Given the description of an element on the screen output the (x, y) to click on. 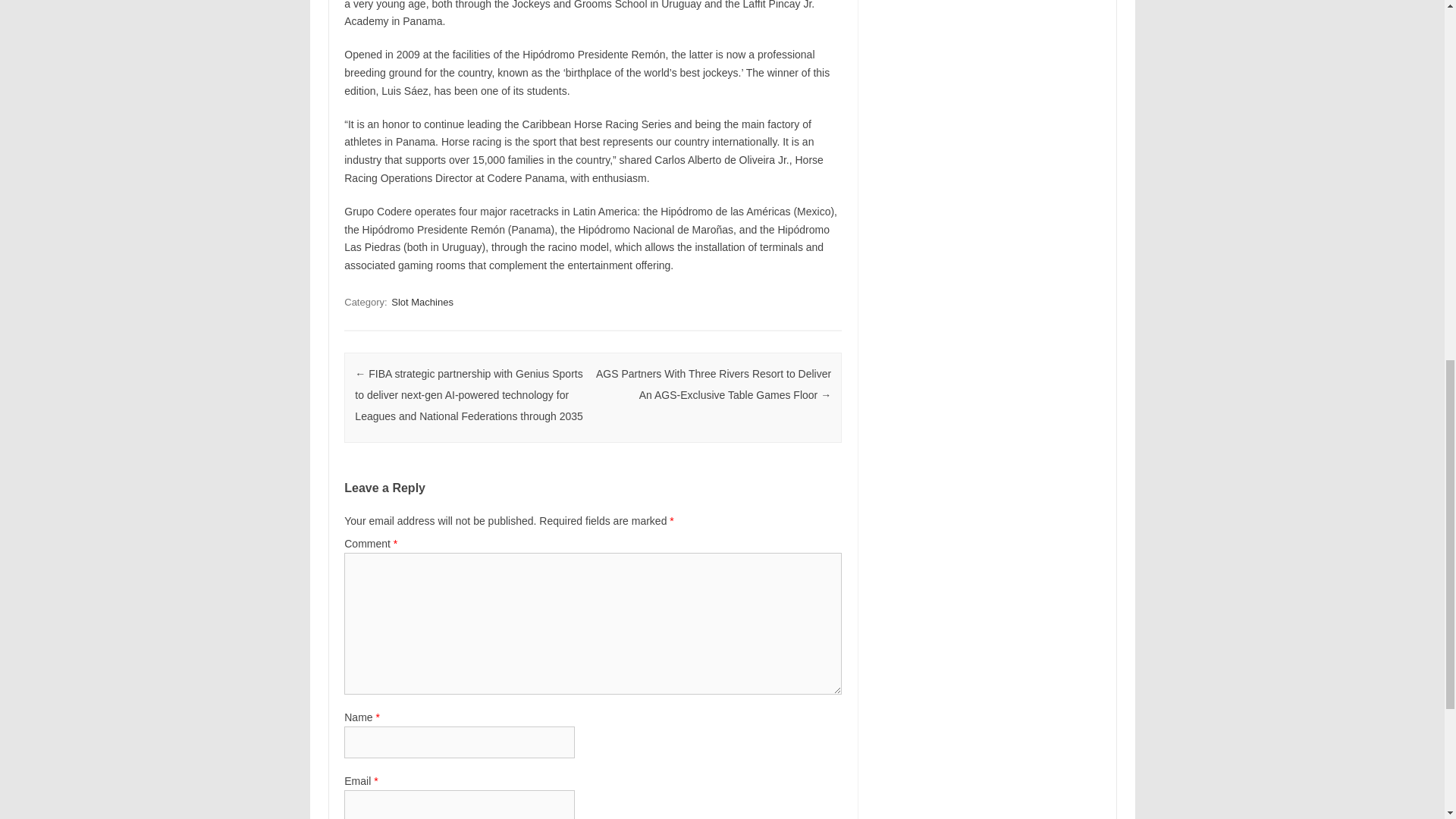
Slot Machines (422, 301)
